Given the description of an element on the screen output the (x, y) to click on. 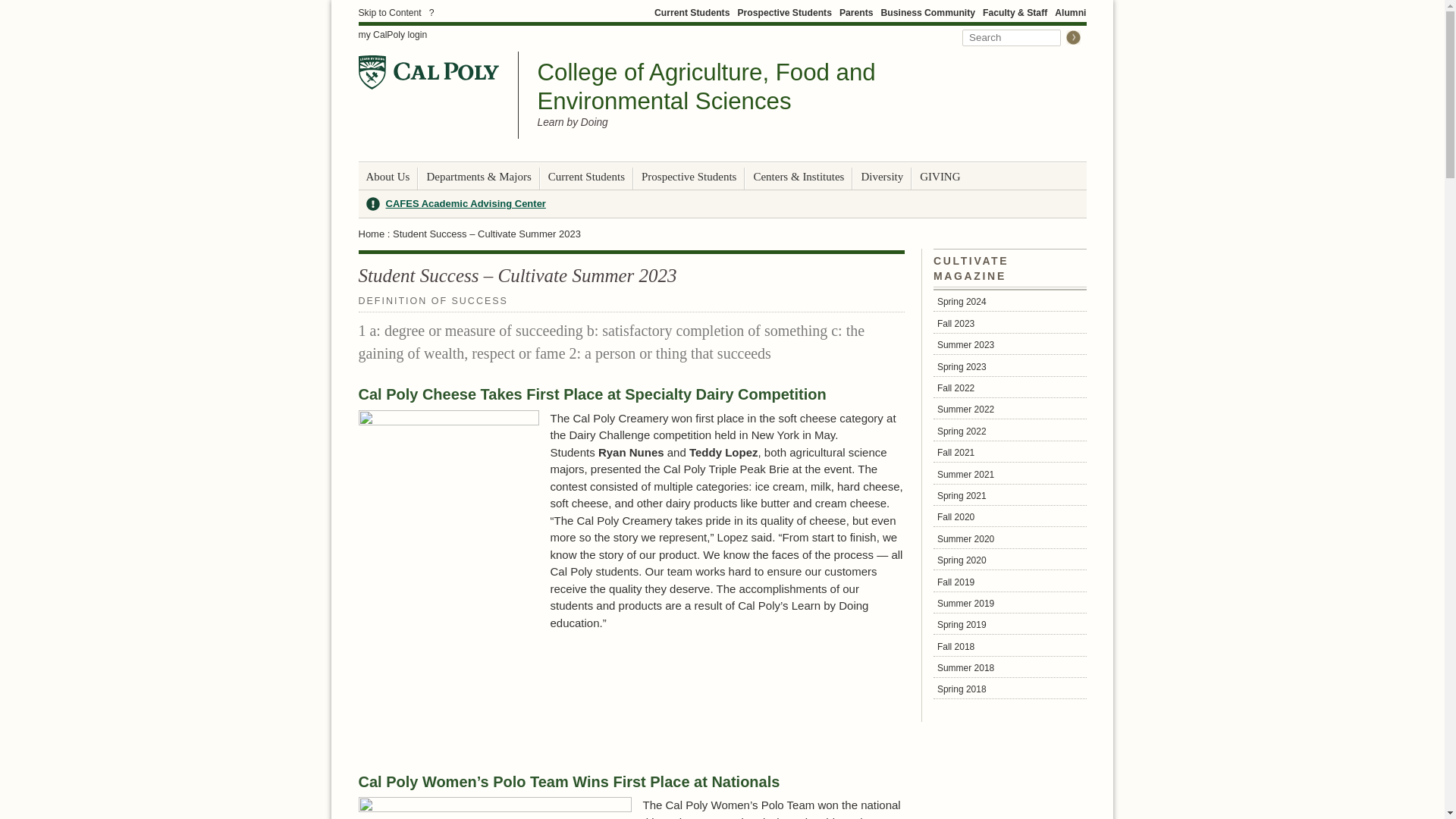
Prospective Students (783, 12)
Search Form (1021, 36)
Submit Search Query (1072, 37)
Current Students (691, 12)
skip to content (389, 12)
Alumni (1070, 12)
Search this site (1011, 37)
help (431, 12)
Go to Cal Poly Home (427, 72)
my CalPoly login (392, 34)
Skip to Content (389, 12)
? (431, 12)
Parents (856, 12)
my CalPoly login (392, 34)
Business Community (927, 12)
